Given the description of an element on the screen output the (x, y) to click on. 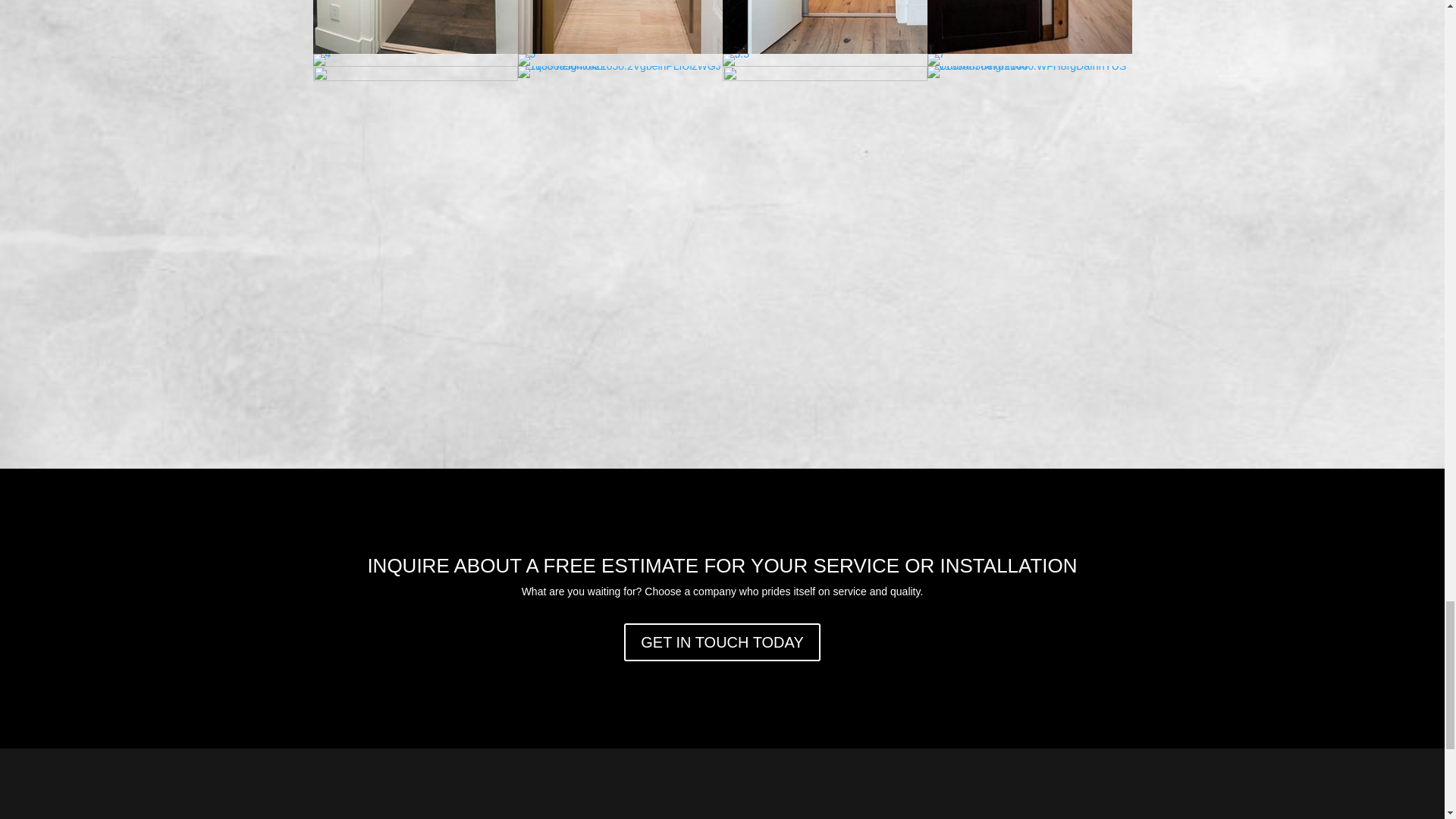
3 (414, 50)
2.2 (619, 50)
Home 10 (1028, 27)
Home 8 (619, 27)
Home 9 (824, 27)
6 (1028, 50)
Home 11 (321, 60)
4 (321, 53)
Home 7 (414, 27)
1.1 (824, 50)
